Given the description of an element on the screen output the (x, y) to click on. 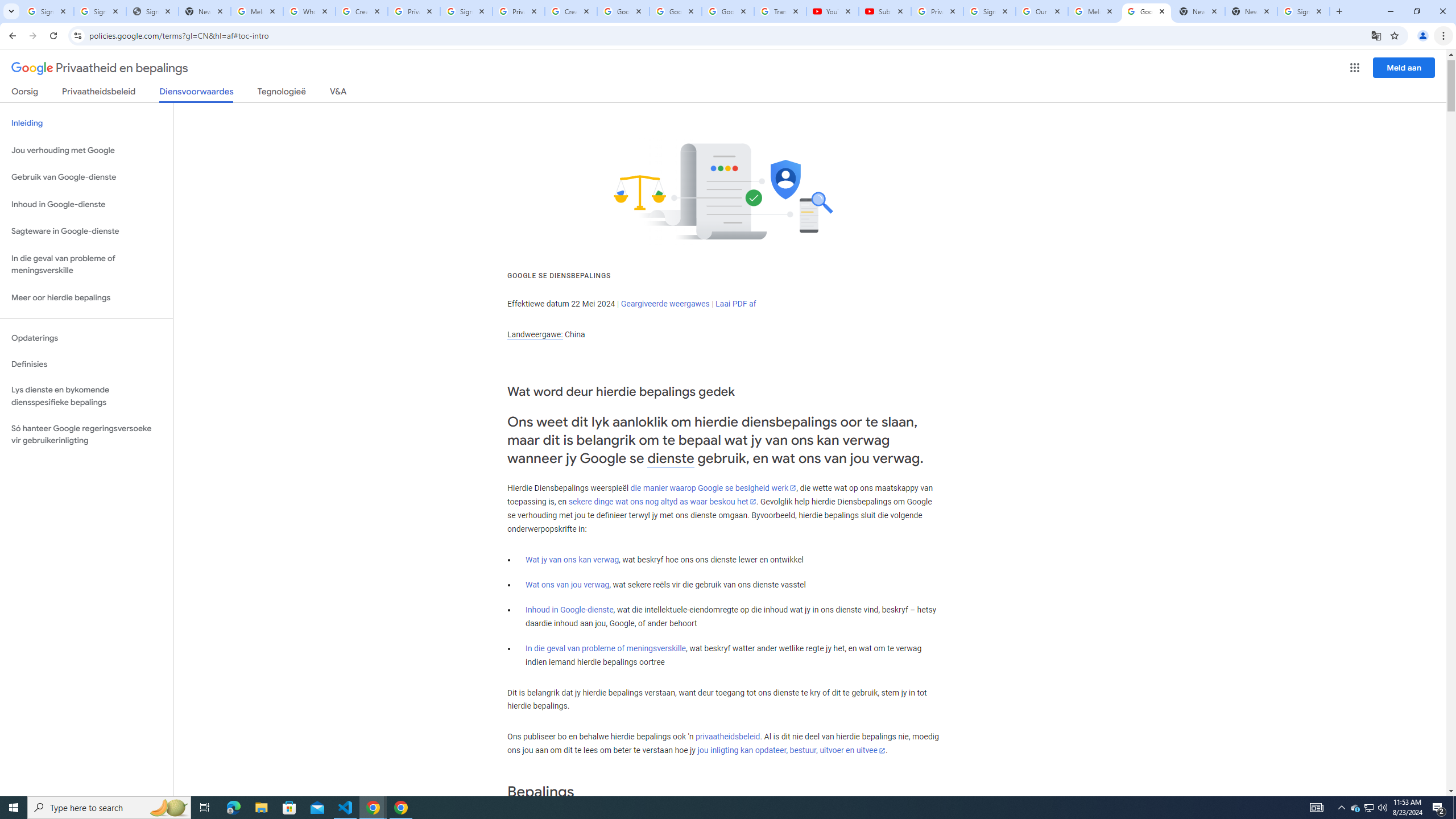
Laai PDF af (735, 303)
Create your Google Account (571, 11)
Sign In - USA TODAY (151, 11)
Sign in - Google Accounts (1303, 11)
V&A (337, 93)
Inhoud in Google-dienste (568, 609)
Meld aan (1404, 67)
sekere dinge wat ons nog altyd as waar beskou het (662, 501)
